Given the description of an element on the screen output the (x, y) to click on. 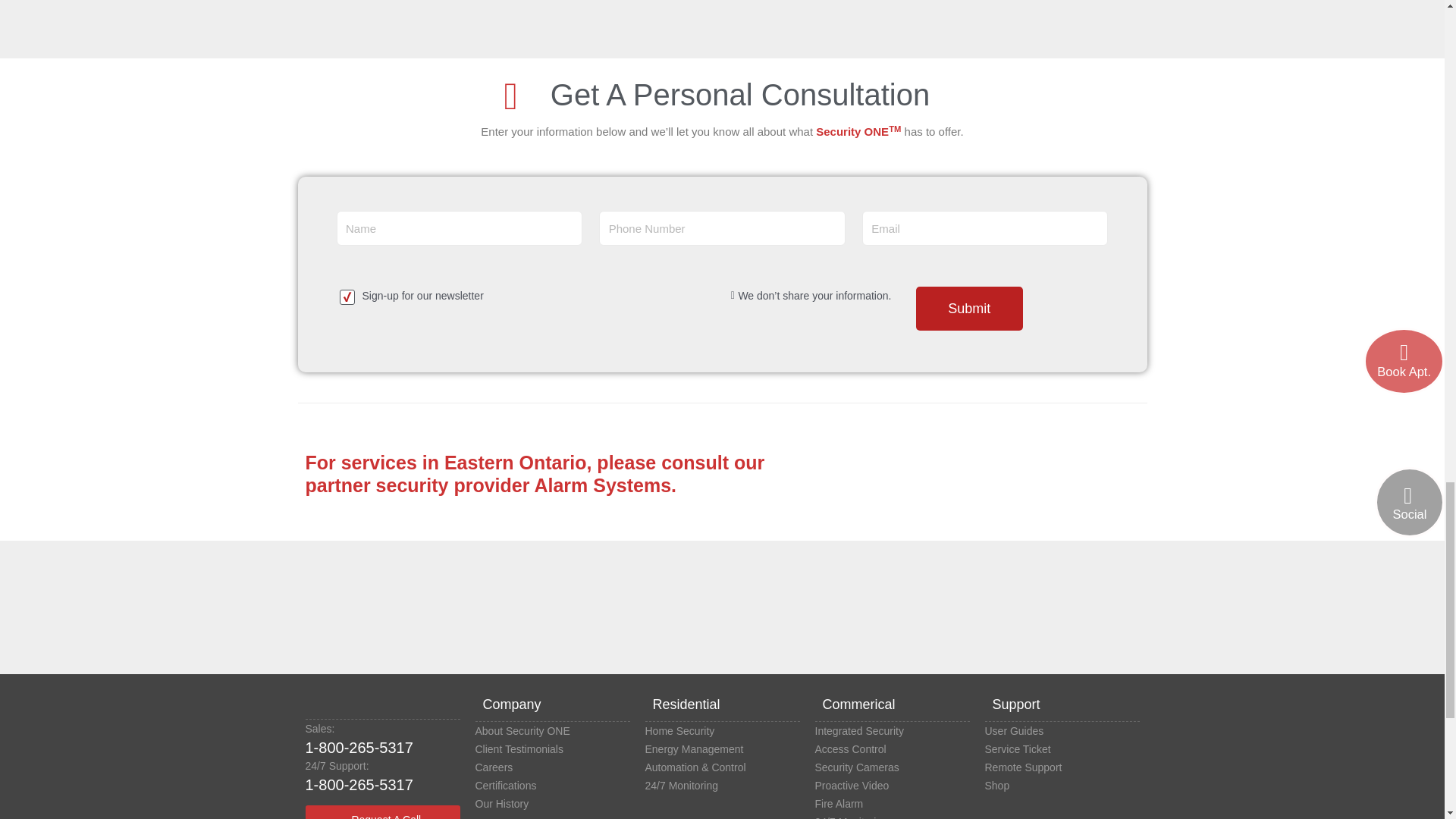
Submit (969, 308)
